Given the description of an element on the screen output the (x, y) to click on. 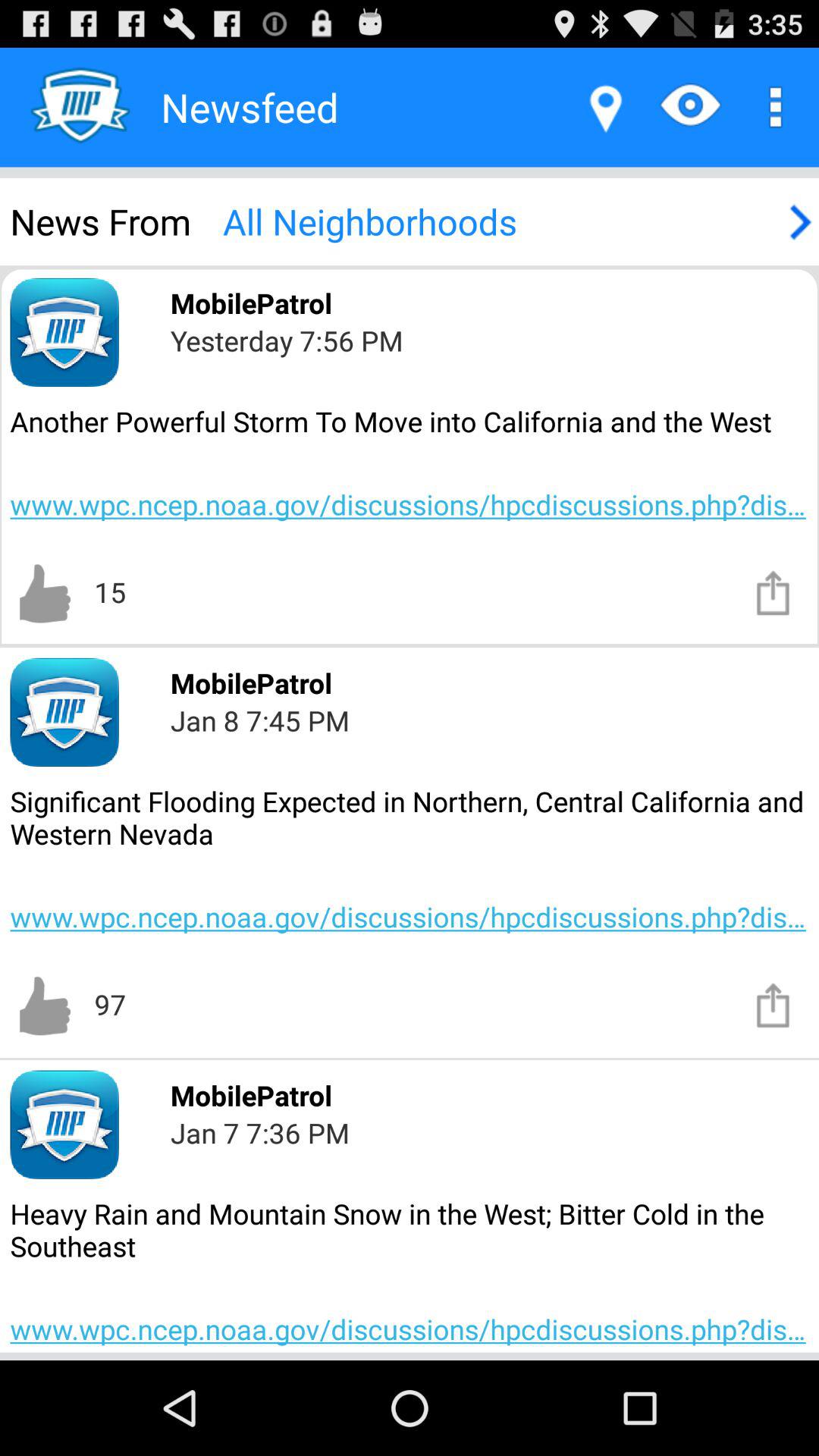
share article (774, 1004)
